Given the description of an element on the screen output the (x, y) to click on. 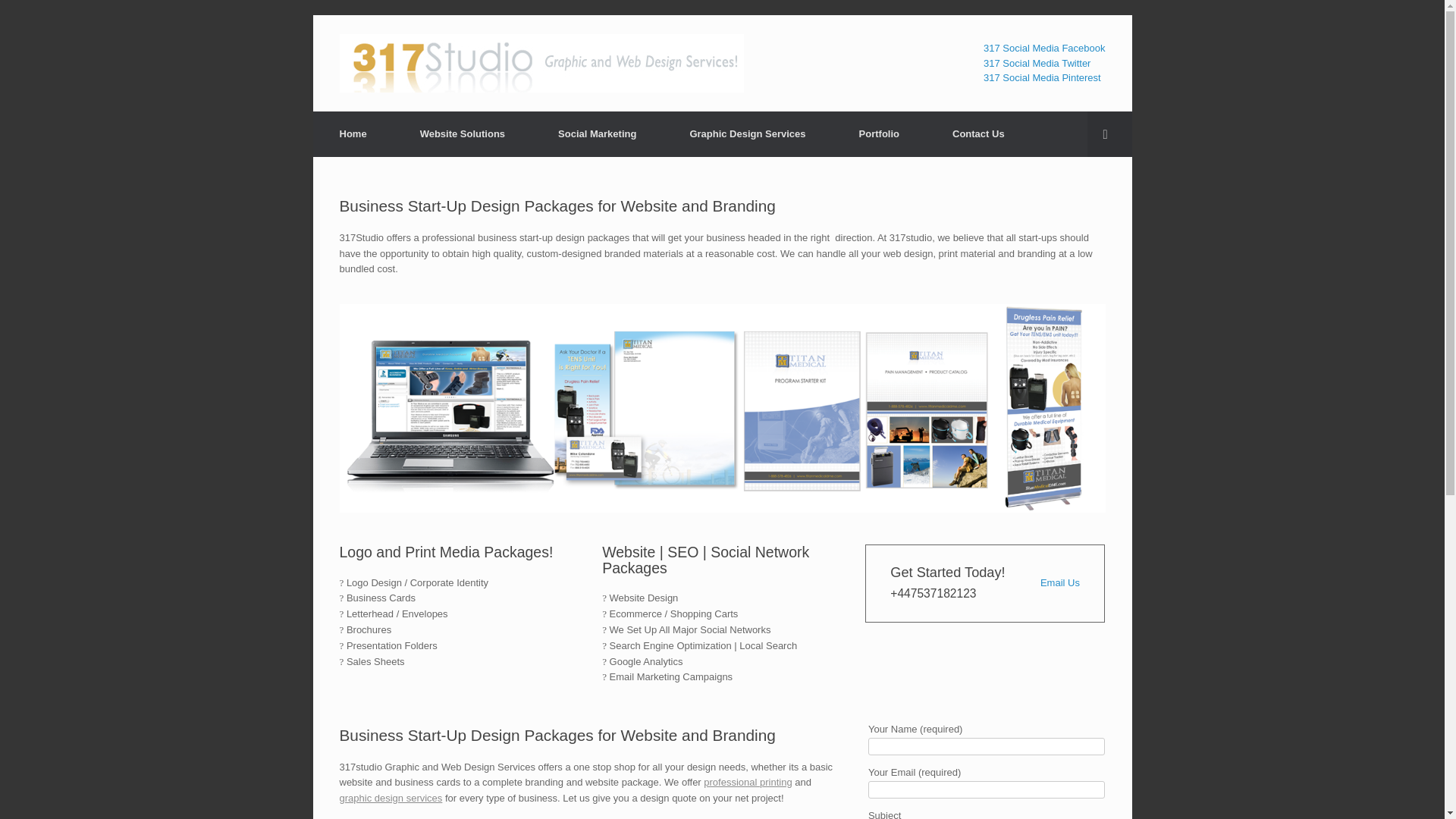
Email Us Element type: text (1059, 582)
317 Social Media Facebook Element type: text (1043, 47)
Portfolio Element type: text (878, 133)
317 Social Media Twitter Element type: text (1036, 63)
Social Marketing Element type: text (596, 133)
Contact Us Element type: text (978, 133)
Website Solutions Element type: text (462, 133)
graphic design services Element type: text (390, 797)
Home Element type: text (352, 133)
317 Social Media Pinterest Element type: text (1042, 77)
317 Social Media Element type: hover (541, 62)
professional printing Element type: text (747, 781)
Graphic Design Services Element type: text (746, 133)
